Given the description of an element on the screen output the (x, y) to click on. 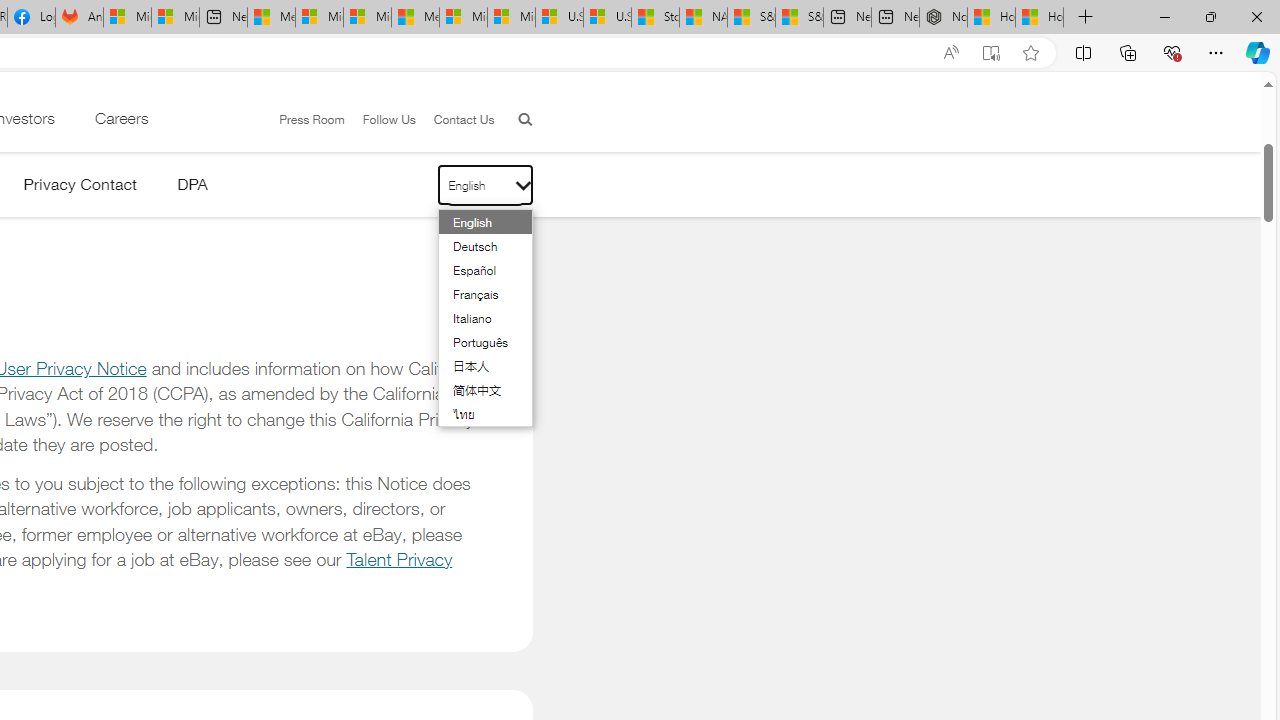
Restore (1210, 16)
Minimize (1164, 16)
Deutsch (474, 245)
Privacy Contact (80, 188)
Collections (1128, 52)
Settings and more (Alt+F) (1215, 52)
Read aloud this page (Ctrl+Shift+U) (950, 53)
